Given the description of an element on the screen output the (x, y) to click on. 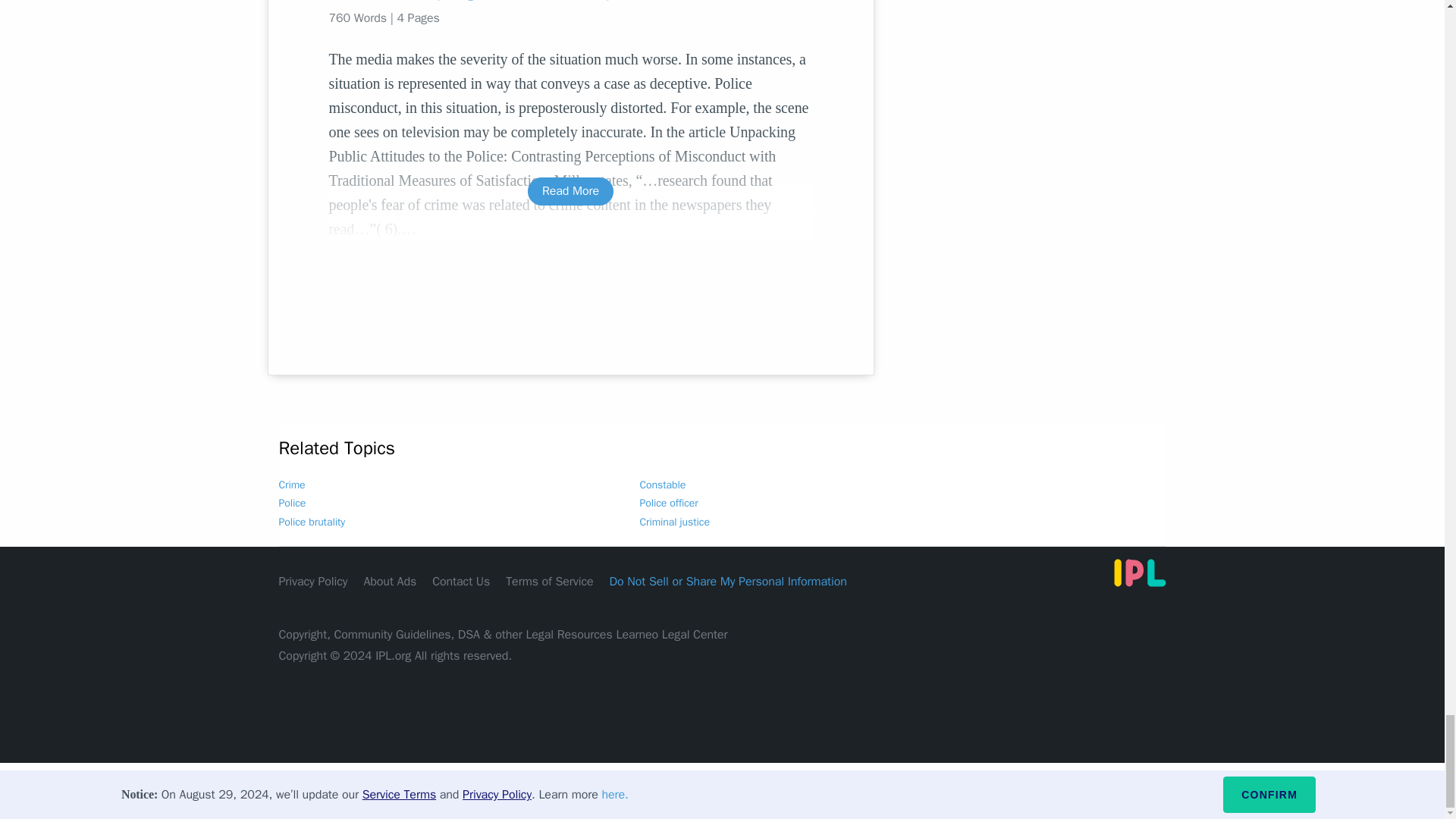
Police brutality (312, 521)
About Ads (389, 581)
Criminal justice (675, 521)
Police officer (669, 502)
Police (292, 502)
Contact Us (460, 581)
Crime (292, 484)
Constable (662, 484)
Privacy Policy (313, 581)
Terms of Service (548, 581)
